Given the description of an element on the screen output the (x, y) to click on. 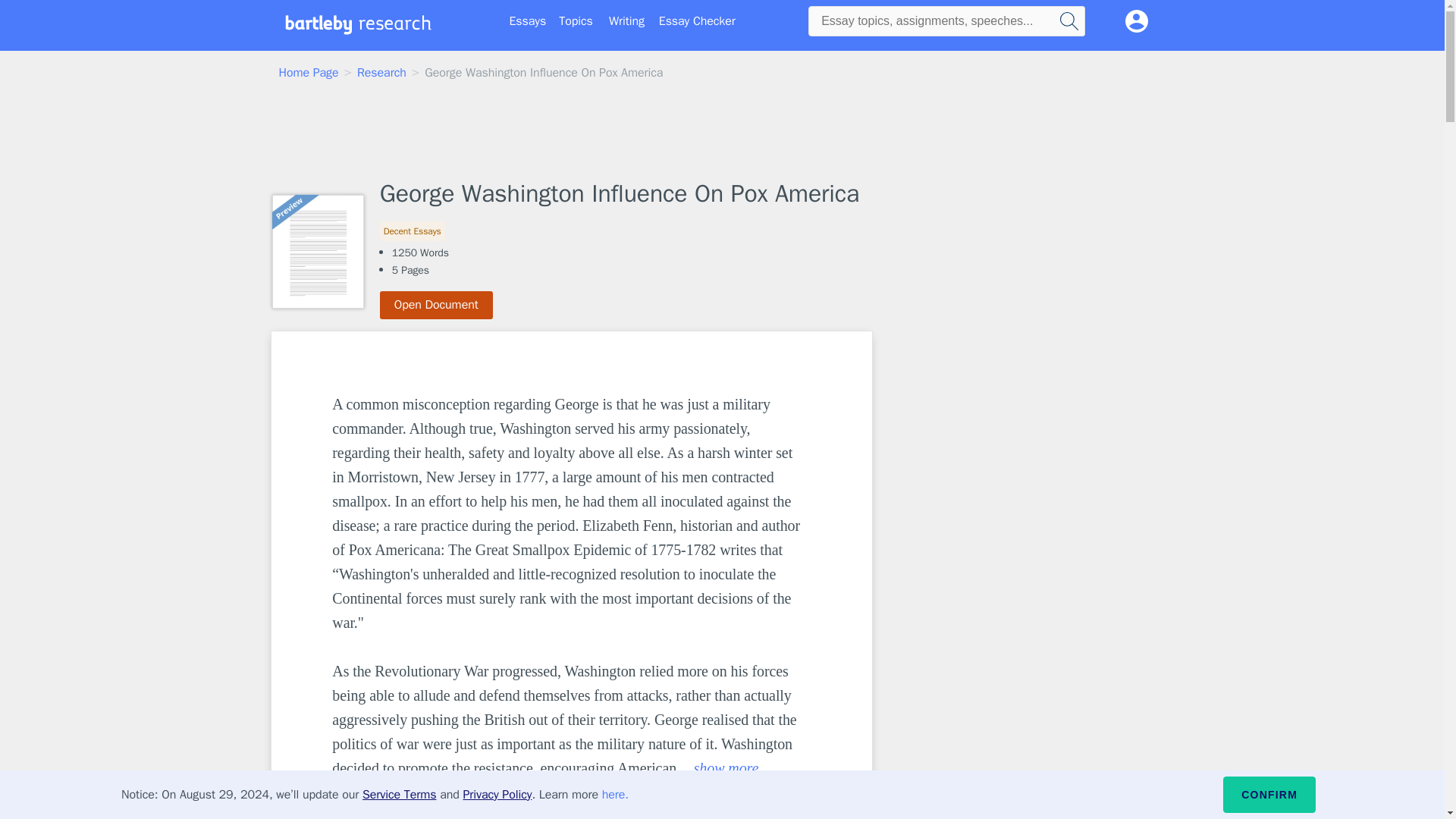
Essay Checker (697, 20)
Open Document (436, 305)
Research (381, 72)
Writing (626, 20)
Topics (575, 20)
Home Page (309, 72)
Essays (528, 20)
